Given the description of an element on the screen output the (x, y) to click on. 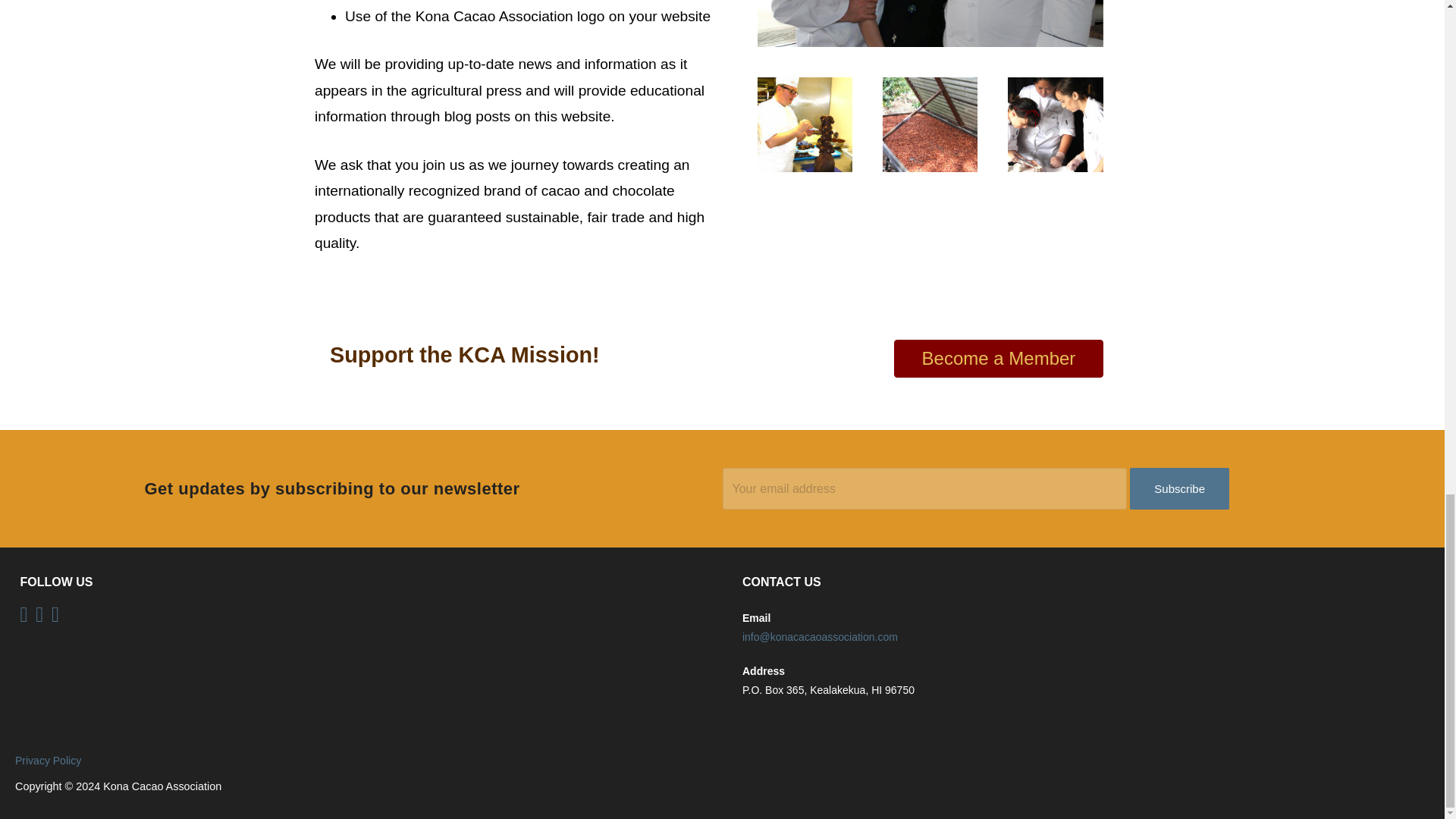
Privacy Policy (47, 760)
Subscribe (1178, 488)
DryingPodssm-150x150 (929, 123)
Visit Kona Cacao Association on Instagram (23, 617)
ChefStudents-150x150 (1054, 123)
JaquesHastyHubert-1 (929, 23)
Visit Kona Cacao Association on Twitter (38, 617)
Become a Member (998, 358)
ChefDonaldWressell-150x150 (804, 123)
Visit Kona Cacao Association on Facebook (54, 617)
Subscribe (1178, 488)
